Given the description of an element on the screen output the (x, y) to click on. 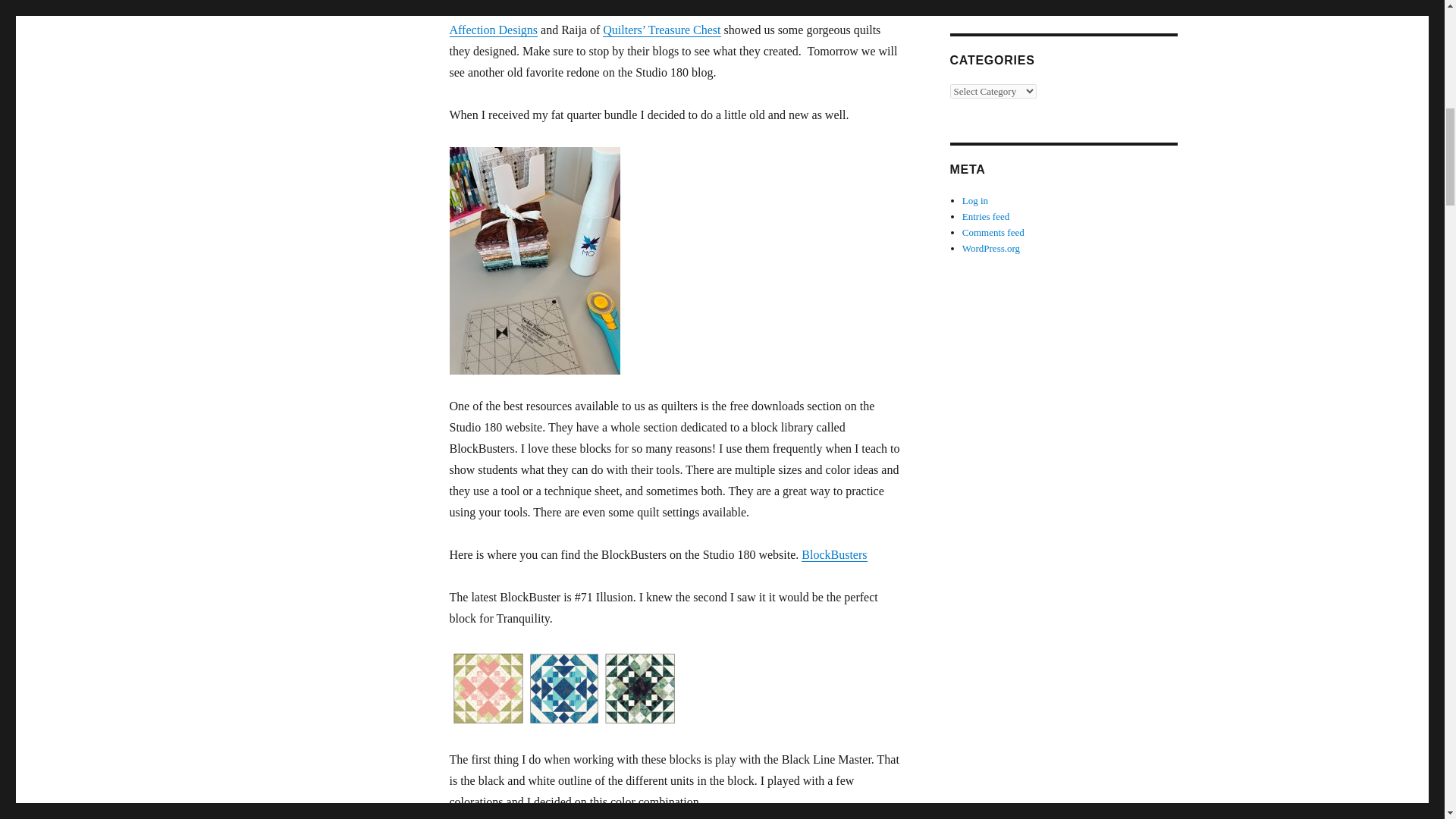
Quilting Affection Designs (668, 19)
Entries feed (985, 215)
Comments feed (993, 232)
Log in (975, 200)
WordPress.org (991, 247)
BlockBusters (834, 554)
